Given the description of an element on the screen output the (x, y) to click on. 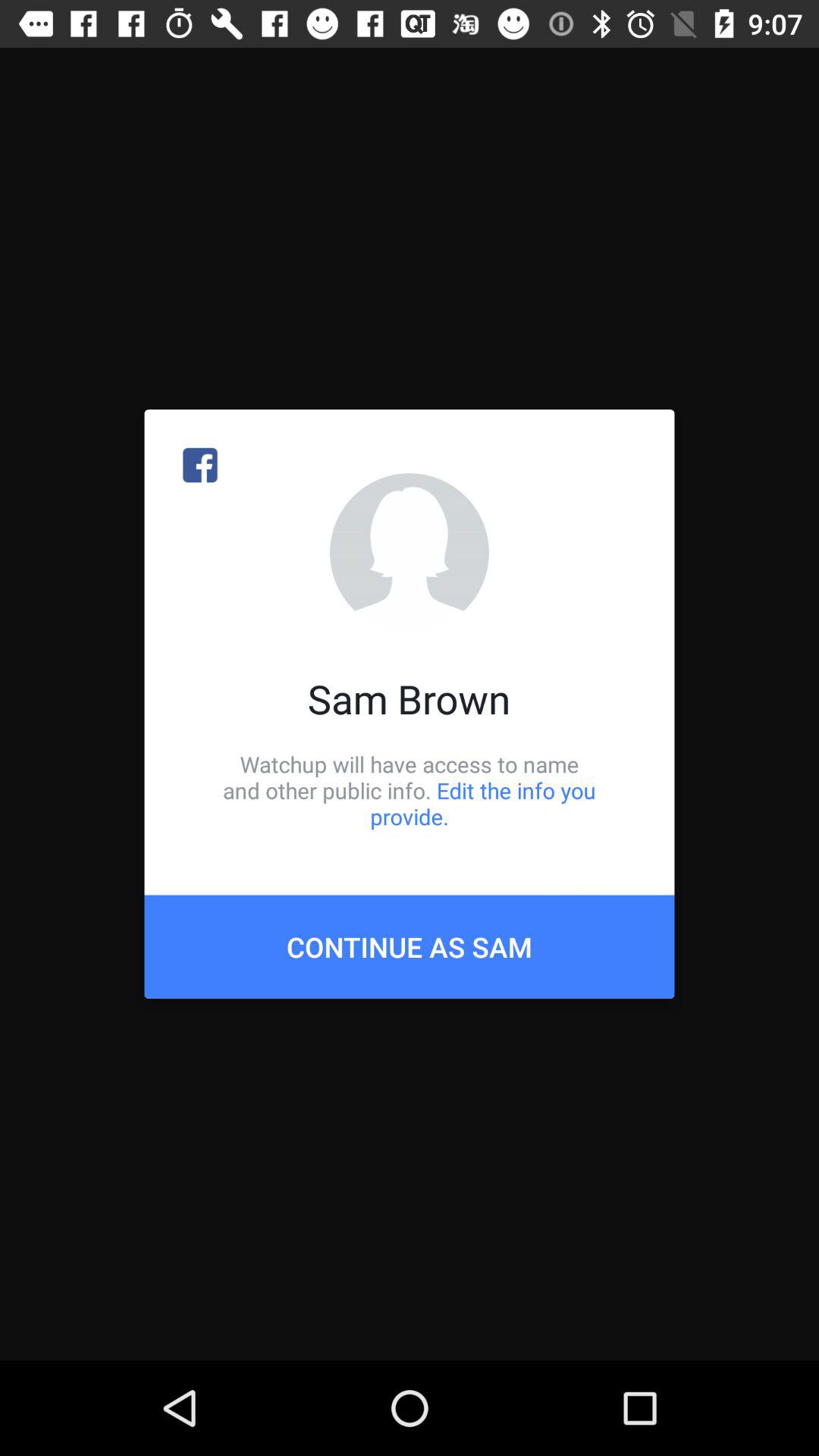
flip to continue as sam icon (409, 946)
